Given the description of an element on the screen output the (x, y) to click on. 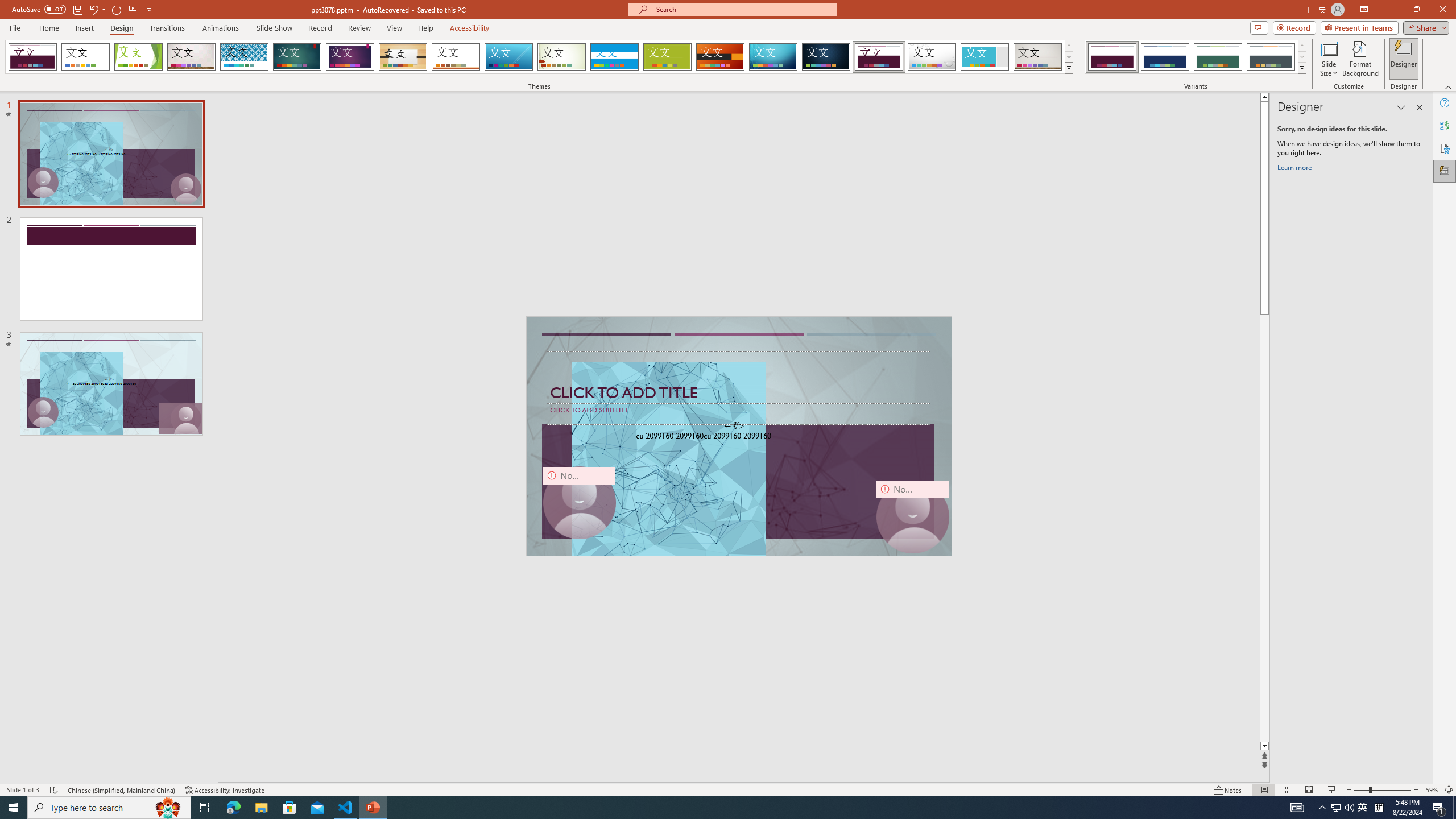
Zoom 59% (1431, 790)
Dividend (879, 56)
TextBox 7 (734, 426)
Integral (244, 56)
AutomationID: ThemeVariantsGallery (1195, 56)
Dividend Variant 3 (1217, 56)
